Given the description of an element on the screen output the (x, y) to click on. 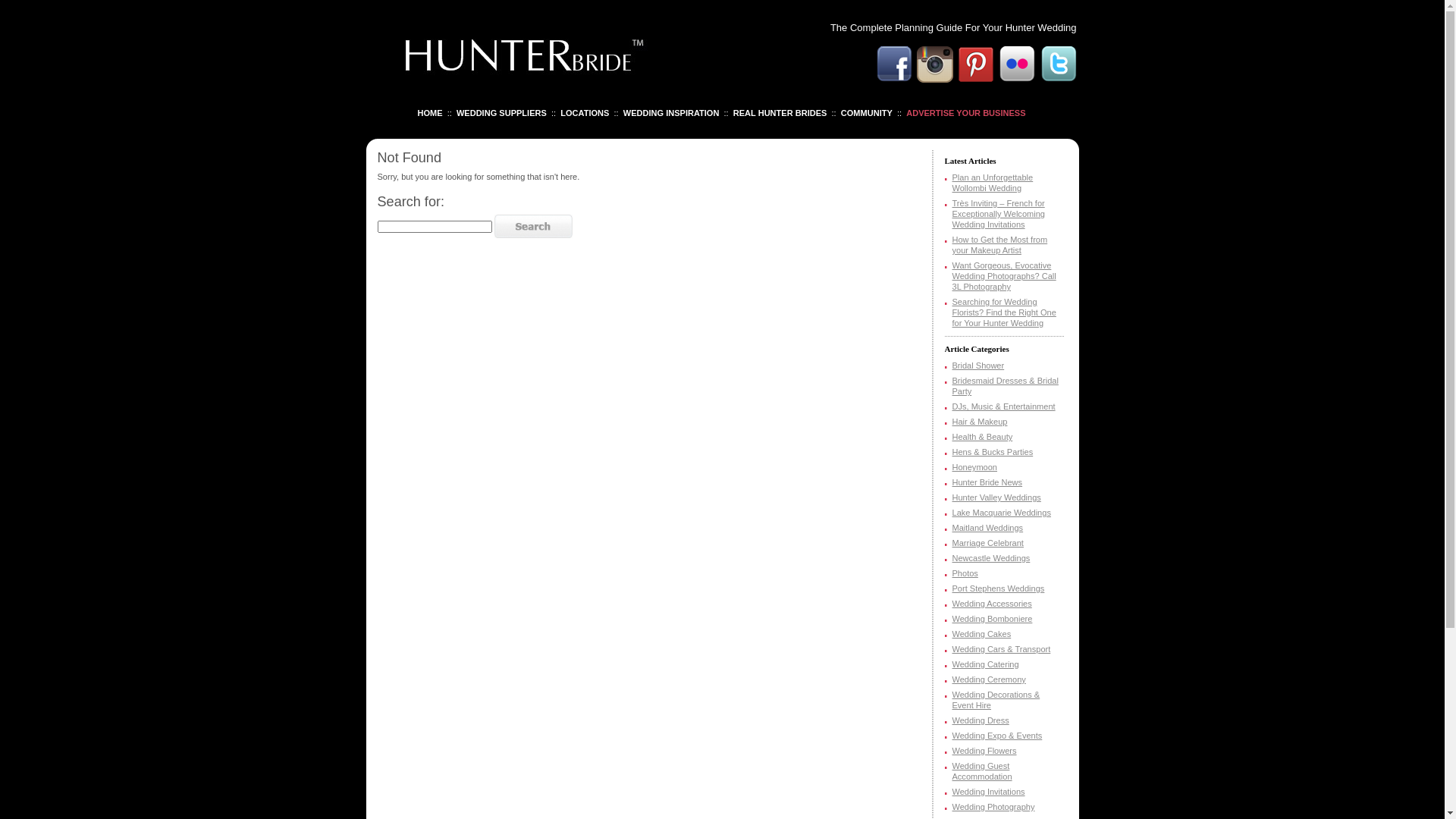
Wedding Cakes Element type: text (981, 633)
COMMUNITY Element type: text (866, 112)
Hunter Valley Weddings Element type: text (996, 497)
REAL HUNTER BRIDES Element type: text (780, 112)
WEDDING INSPIRATION Element type: text (671, 112)
Plan an Unforgettable Wollombi Wedding Element type: text (992, 182)
Newcastle Weddings Element type: text (991, 557)
Wedding Ceremony Element type: text (989, 679)
Wedding Invitations Element type: text (988, 791)
DJs, Music & Entertainment Element type: text (1003, 406)
Lake Macquarie Weddings Element type: text (1001, 512)
Wedding Bomboniere Element type: text (992, 618)
Port Stephens Weddings Element type: text (998, 588)
Honeymoon Element type: text (974, 466)
Wedding Decorations & Event Hire Element type: text (996, 699)
Wedding Dress Element type: text (980, 719)
WEDDING SUPPLIERS Element type: text (501, 112)
Wedding Expo & Events Element type: text (997, 735)
Hunter Bride News Element type: text (987, 481)
Bridal Shower Element type: text (978, 365)
Wedding Guest Accommodation Element type: text (982, 771)
Health & Beauty Element type: text (982, 436)
Bridesmaid Dresses & Bridal Party Element type: text (1005, 385)
Hair & Makeup Element type: text (979, 421)
Wedding Flowers Element type: text (984, 750)
Wedding Accessories Element type: text (992, 603)
ADVERTISE YOUR BUSINESS Element type: text (965, 112)
Wedding Photography Element type: text (993, 806)
HOME Element type: text (429, 112)
Wedding Catering Element type: text (985, 663)
Photos Element type: text (965, 572)
Wedding Cars & Transport Element type: text (1001, 648)
Hens & Bucks Parties Element type: text (992, 451)
Marriage Celebrant Element type: text (987, 542)
Maitland Weddings Element type: text (987, 527)
LOCATIONS Element type: text (584, 112)
How to Get the Most from your Makeup Artist Element type: text (1000, 244)
